Given the description of an element on the screen output the (x, y) to click on. 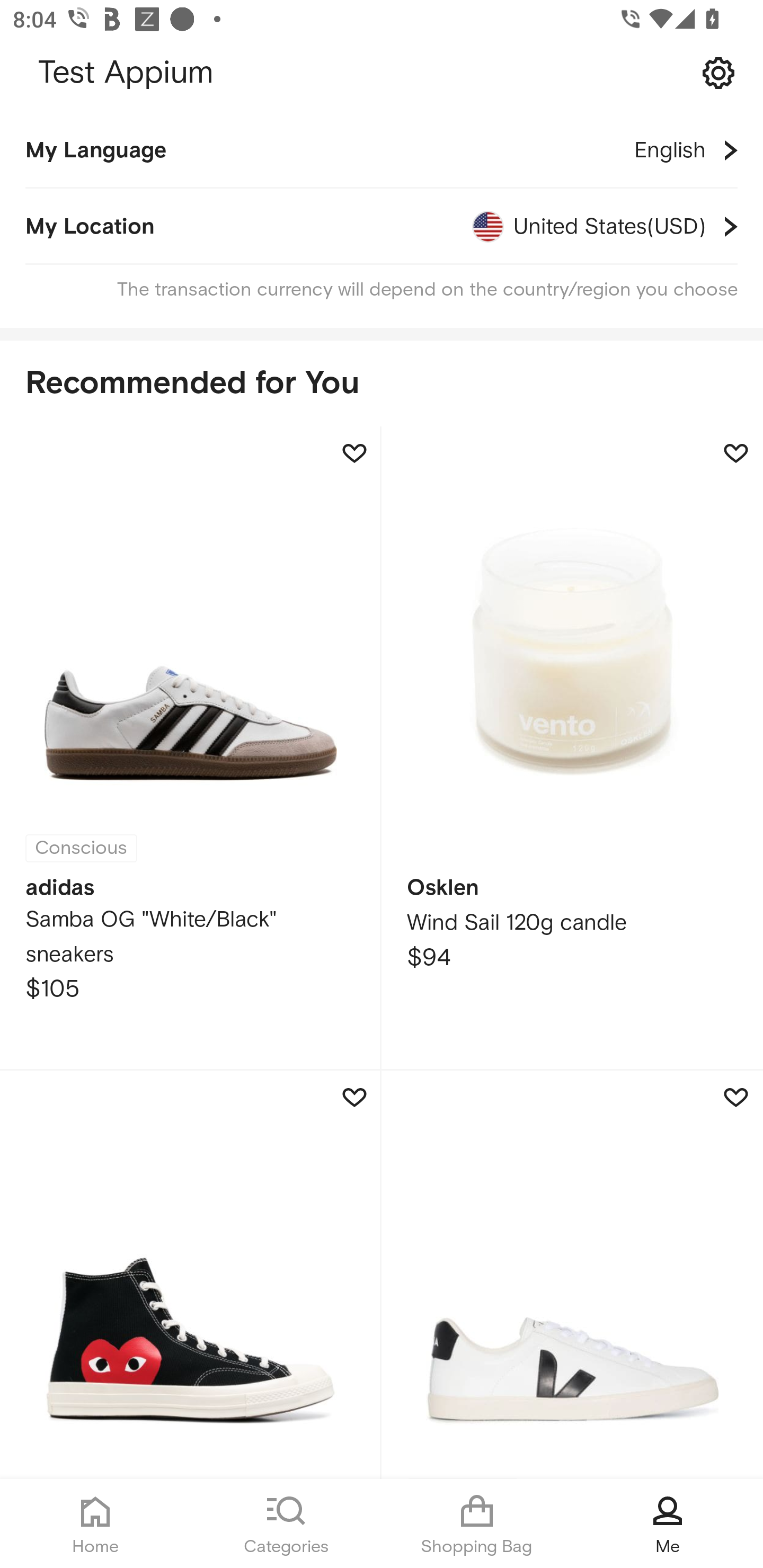
Test Appium (381, 72)
My Language English (381, 150)
My Location United States(USD) (381, 226)
Osklen Wind Sail 120g candle $94 (572, 748)
Home (95, 1523)
Categories (285, 1523)
Shopping Bag (476, 1523)
